Given the description of an element on the screen output the (x, y) to click on. 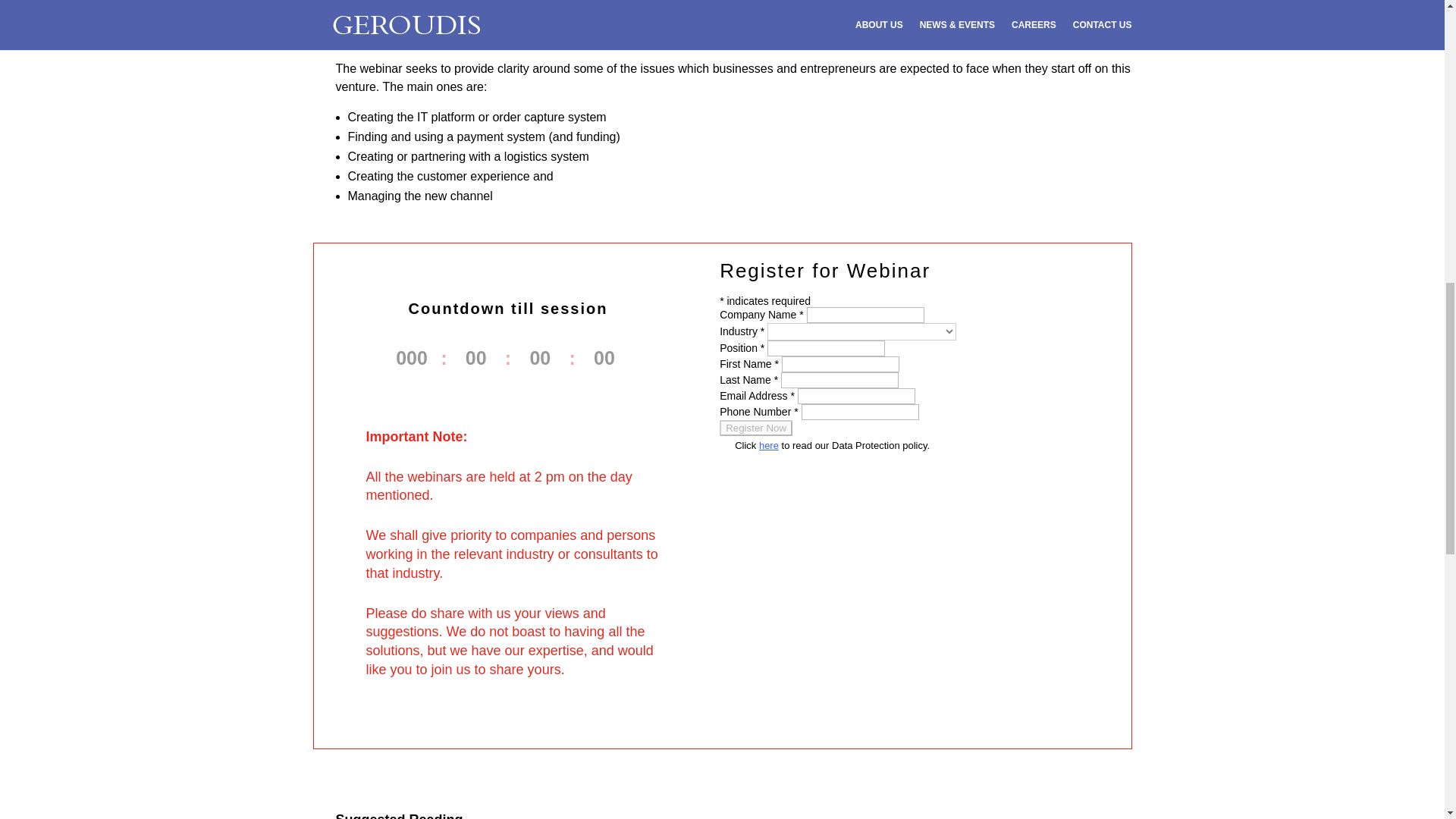
here (768, 445)
Register Now (755, 427)
Register Now (755, 427)
